Given the description of an element on the screen output the (x, y) to click on. 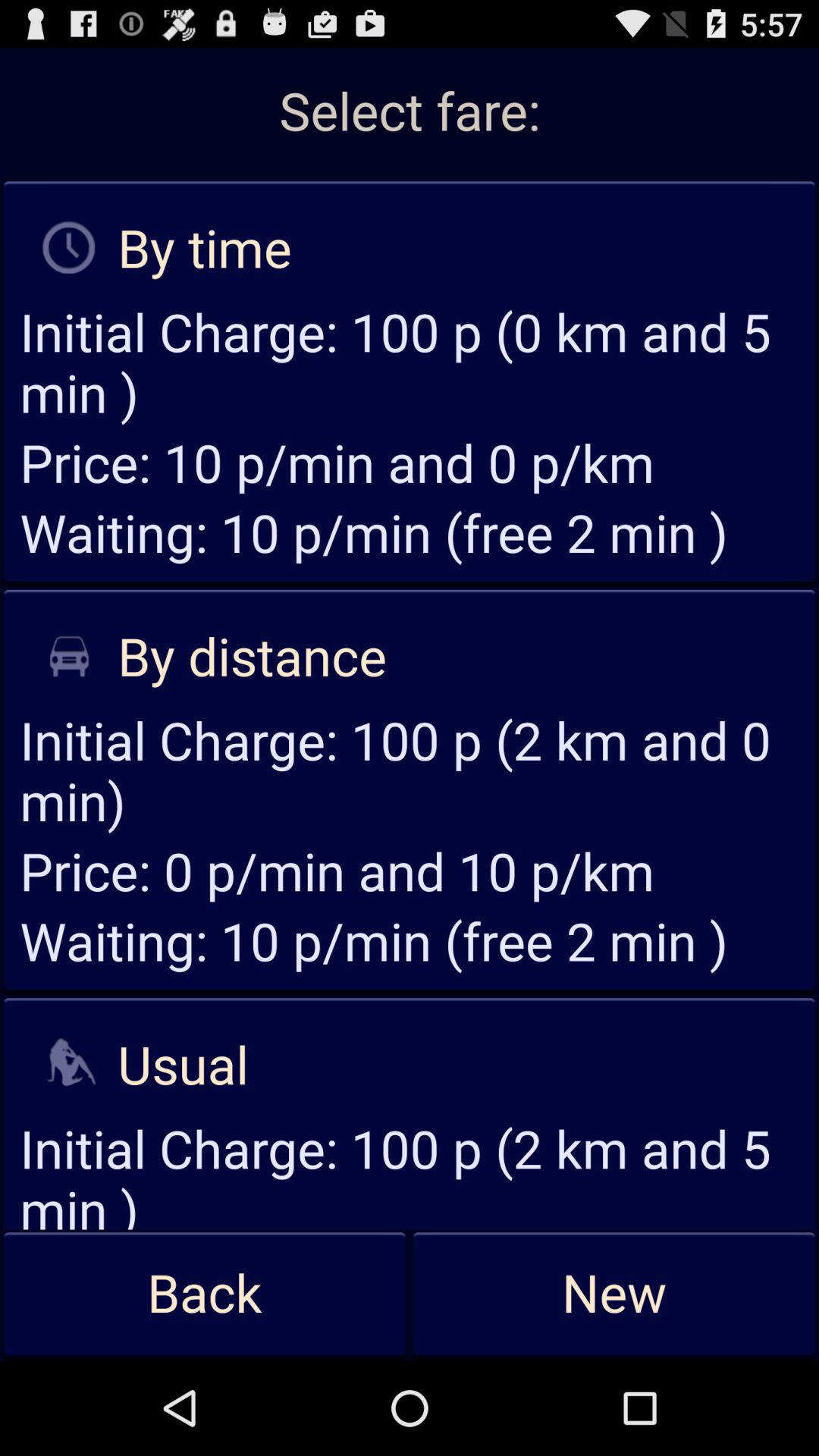
launch item at the bottom right corner (614, 1294)
